Given the description of an element on the screen output the (x, y) to click on. 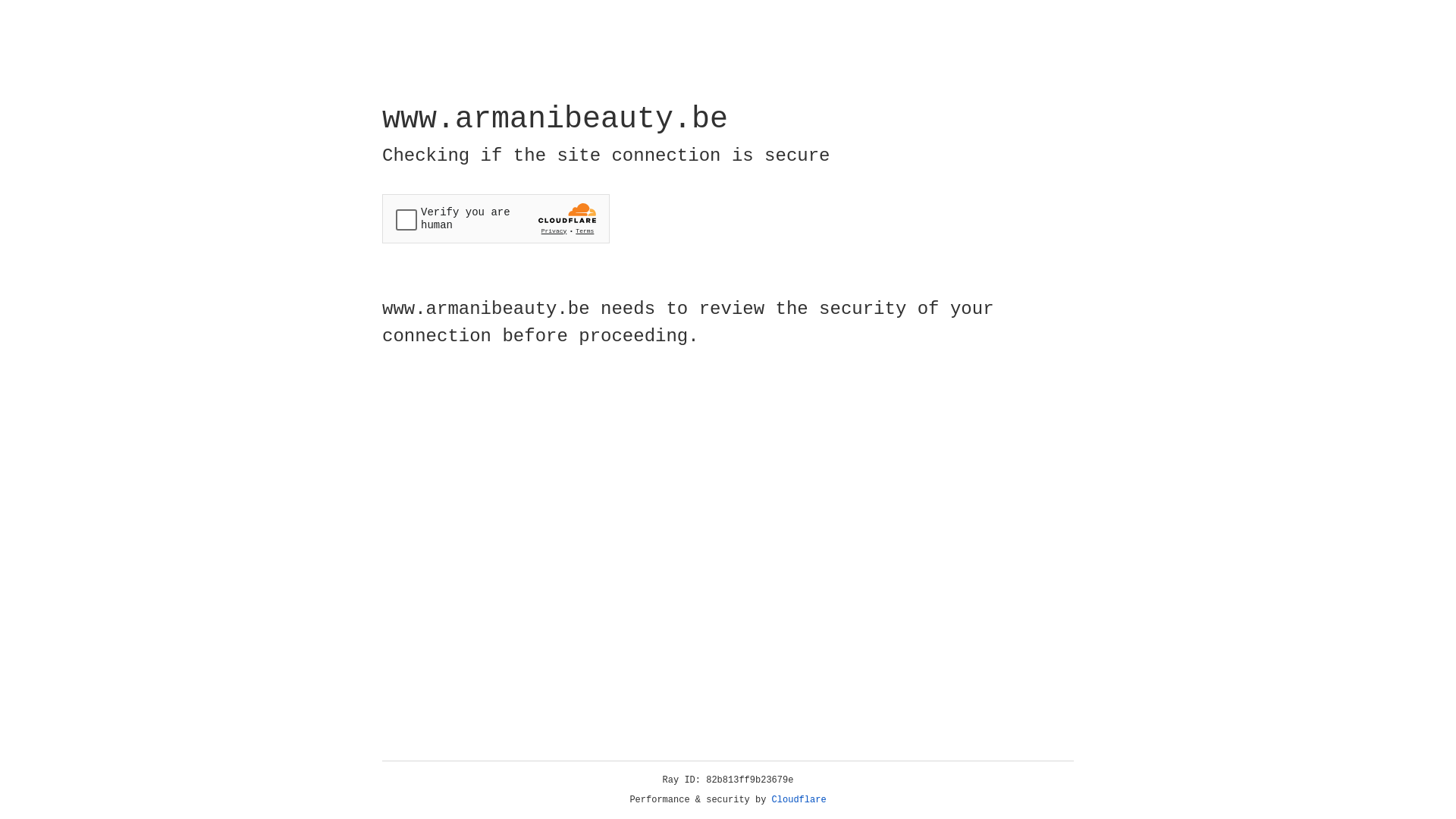
Cloudflare Element type: text (798, 799)
Widget containing a Cloudflare security challenge Element type: hover (495, 218)
